Given the description of an element on the screen output the (x, y) to click on. 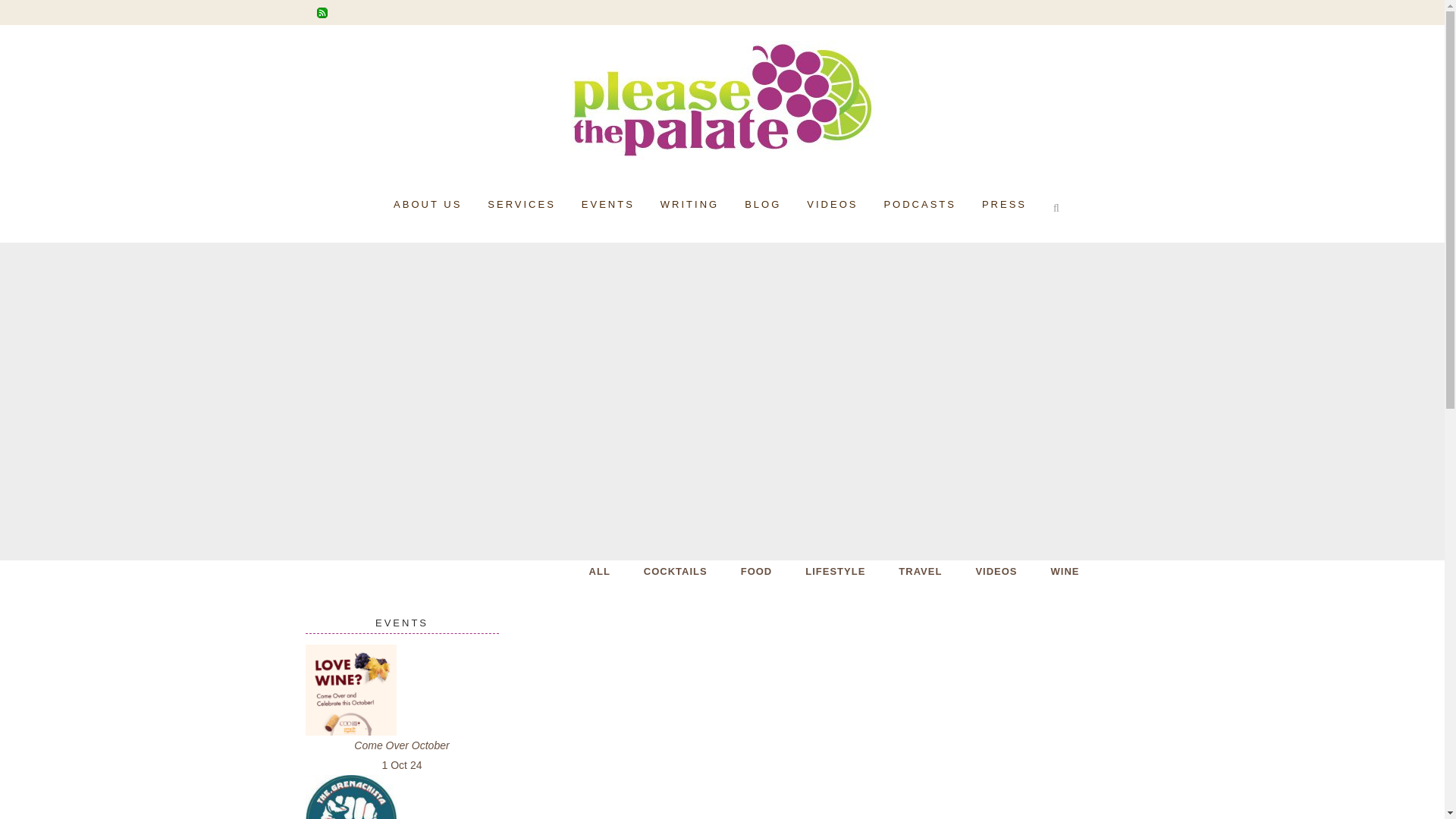
VIDEOS (831, 204)
SERVICES (521, 204)
EVENTS (608, 204)
WRITING (689, 204)
PRESS (1004, 204)
ABOUT US (427, 204)
PODCASTS (919, 204)
